Given the description of an element on the screen output the (x, y) to click on. 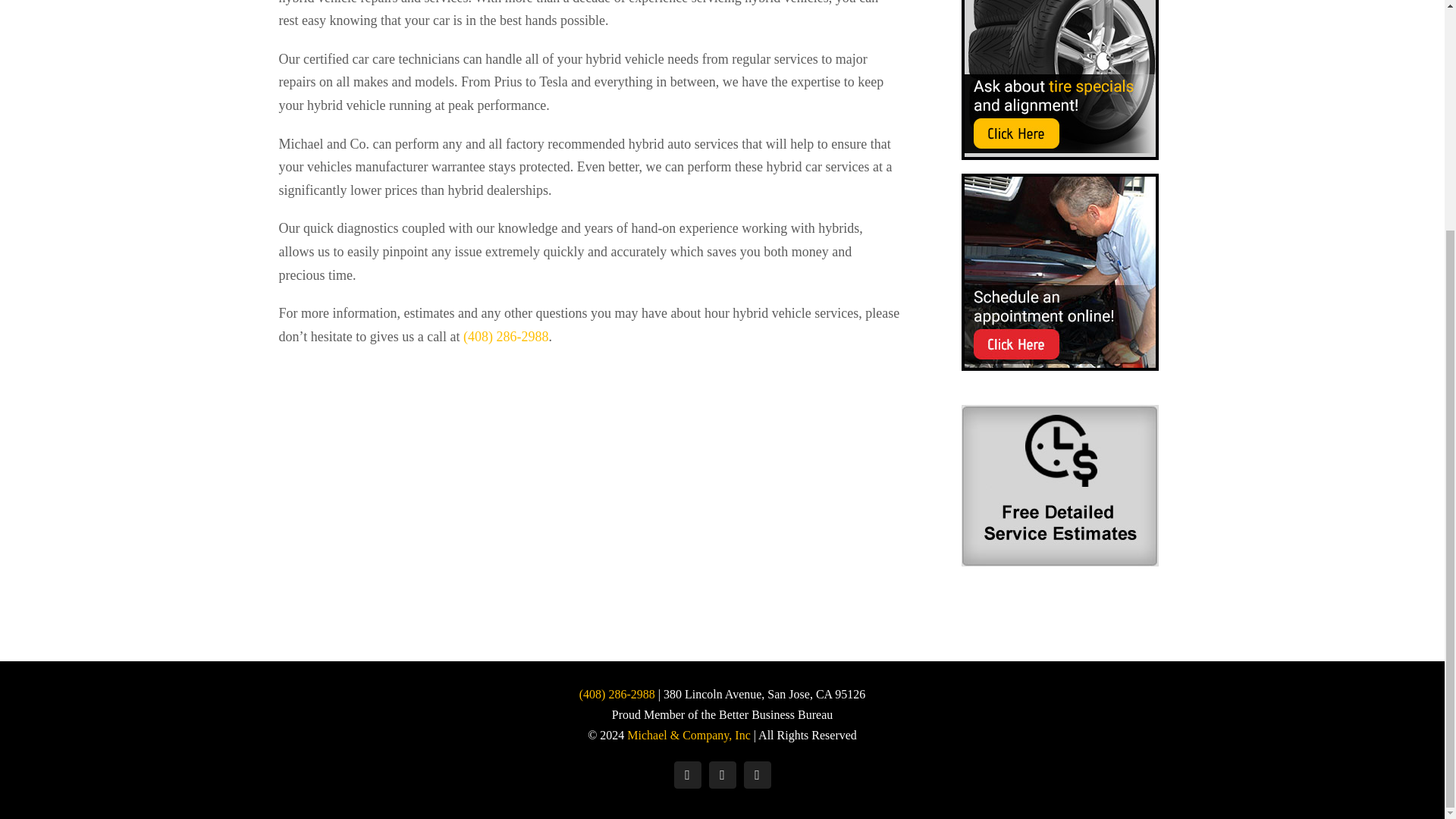
Yelp (721, 774)
X (756, 774)
Facebook (686, 774)
